Given the description of an element on the screen output the (x, y) to click on. 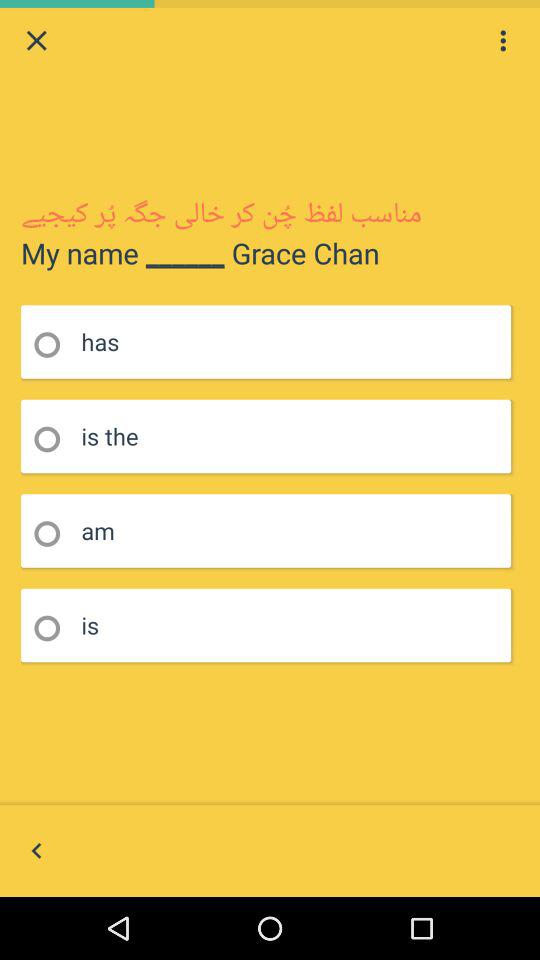
chooses (53, 628)
